Given the description of an element on the screen output the (x, y) to click on. 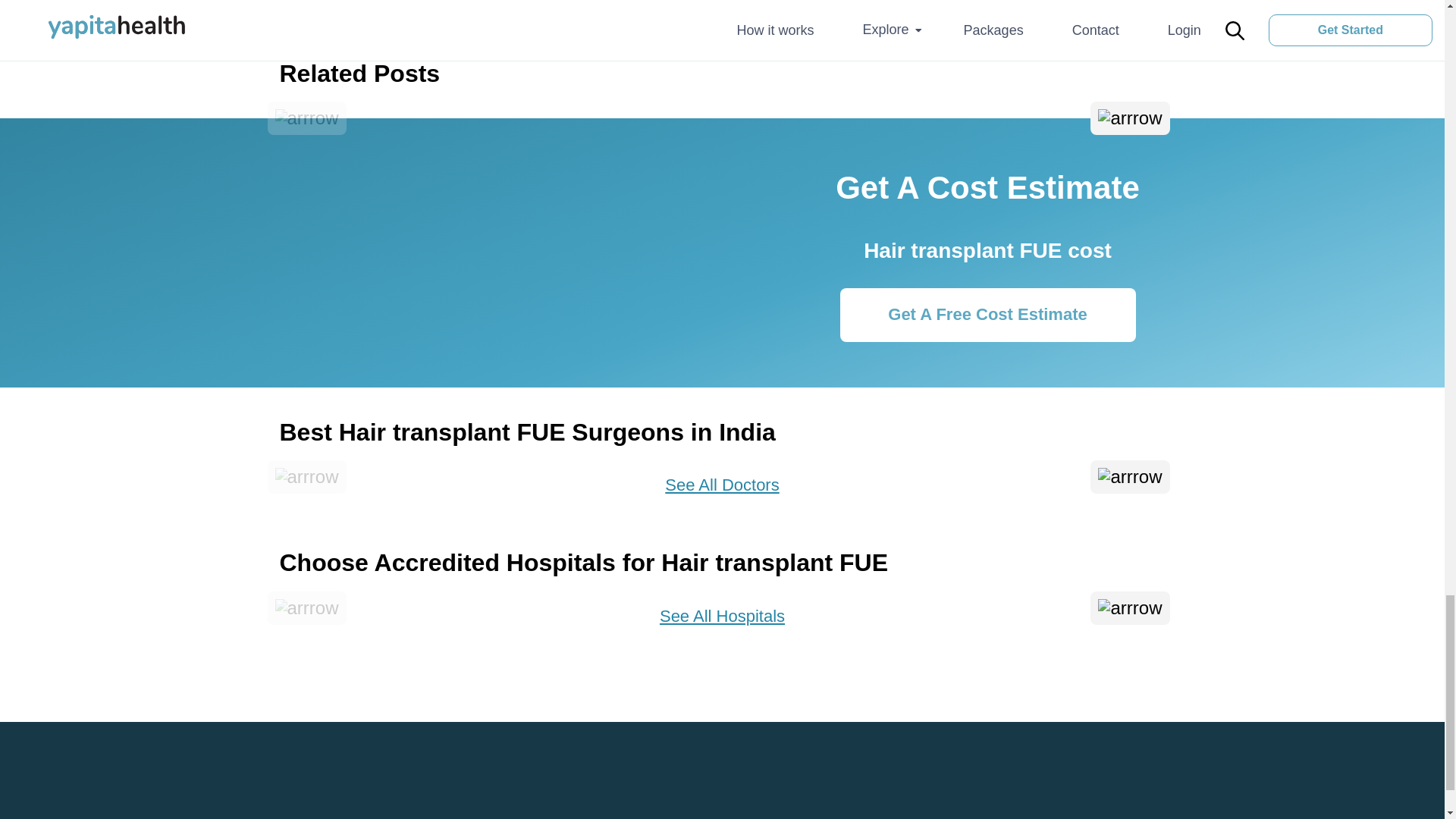
See All Hospitals (721, 616)
See All Doctors (721, 484)
